Given the description of an element on the screen output the (x, y) to click on. 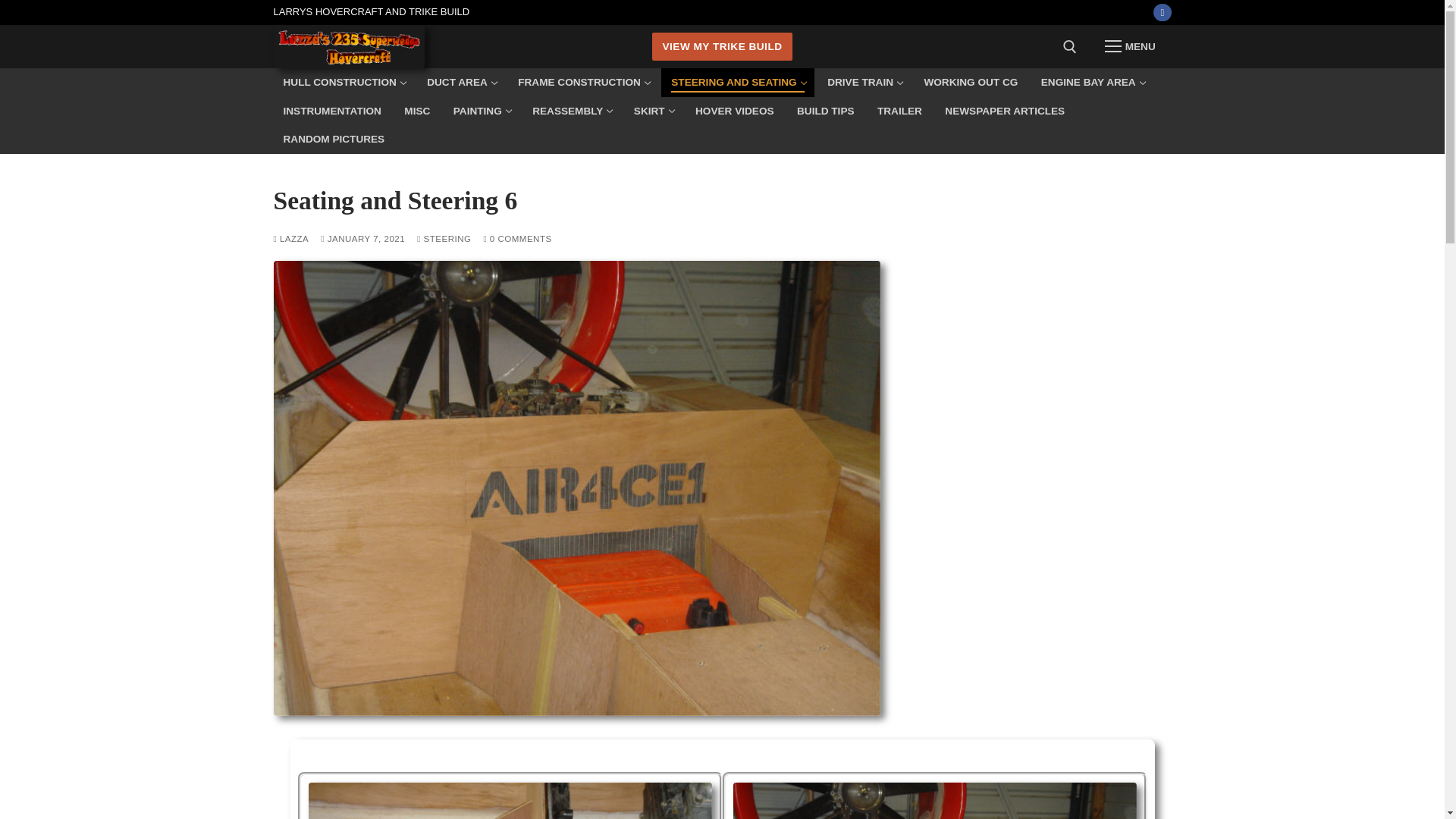
VIEW MY TRIKE BUILD (722, 46)
MENU (1129, 47)
WORKING OUT CG (863, 82)
Facebook (970, 82)
